Given the description of an element on the screen output the (x, y) to click on. 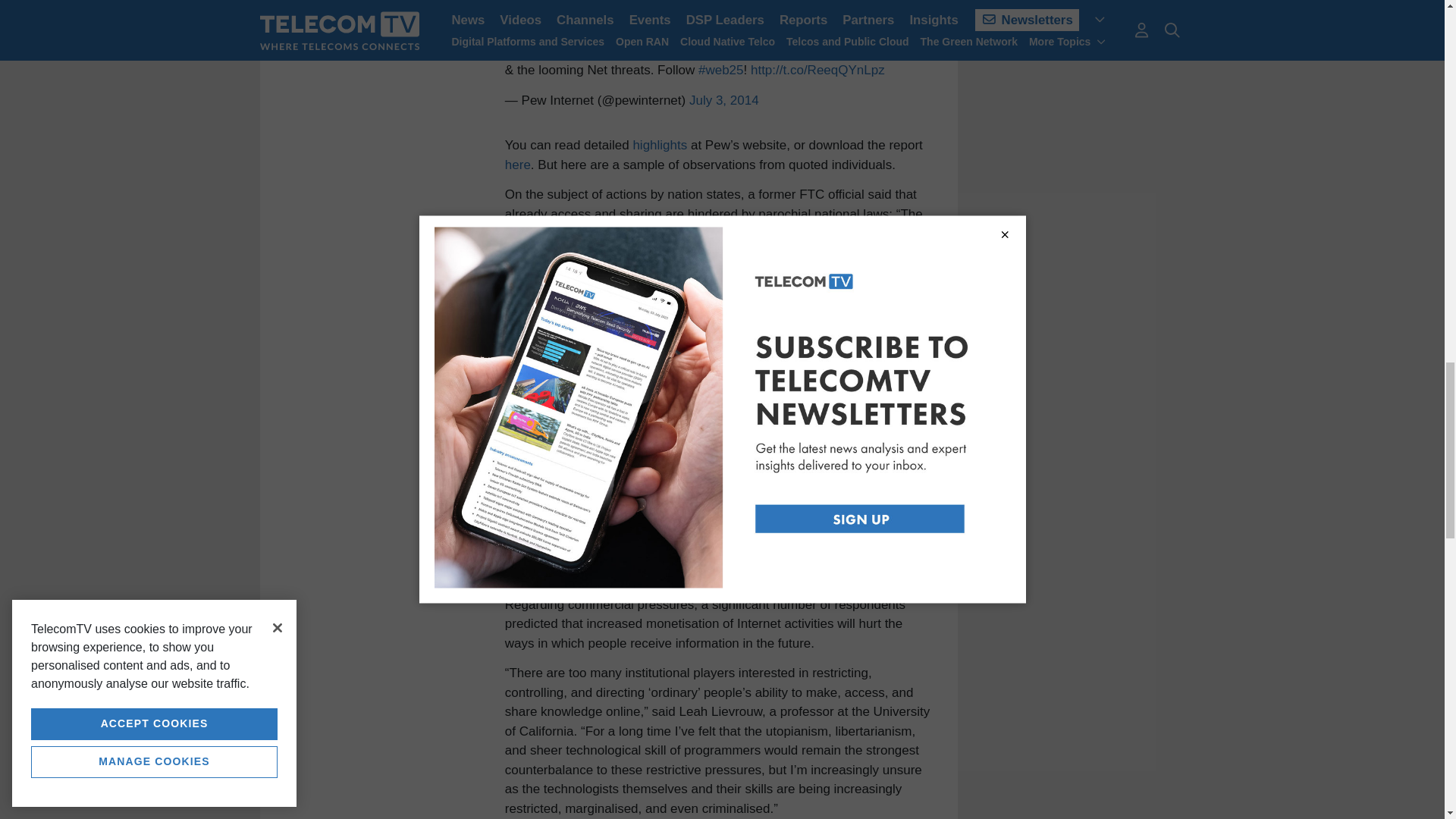
3rd party ad content (1082, 29)
